Given the description of an element on the screen output the (x, y) to click on. 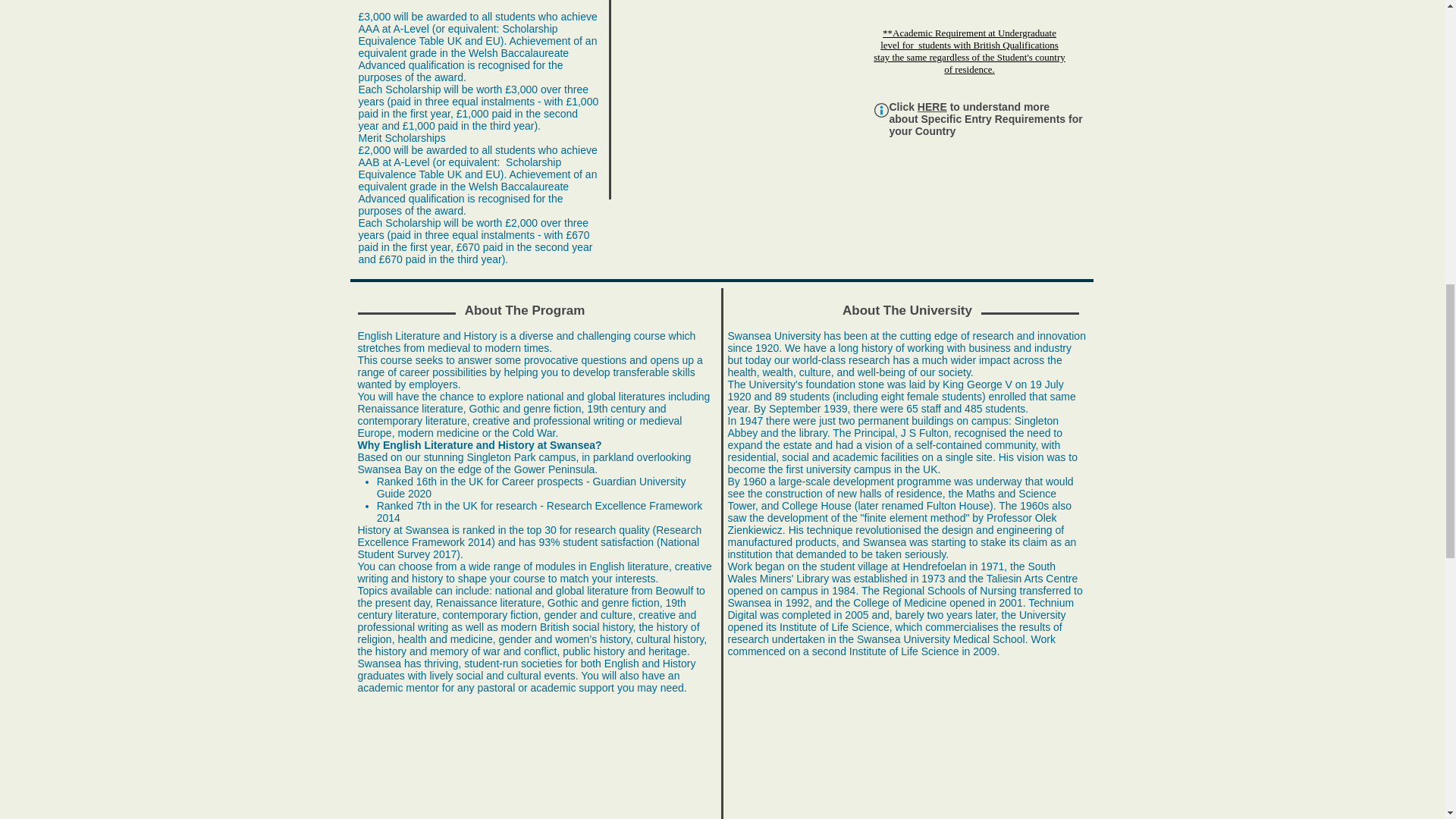
HERE (932, 106)
